Given the description of an element on the screen output the (x, y) to click on. 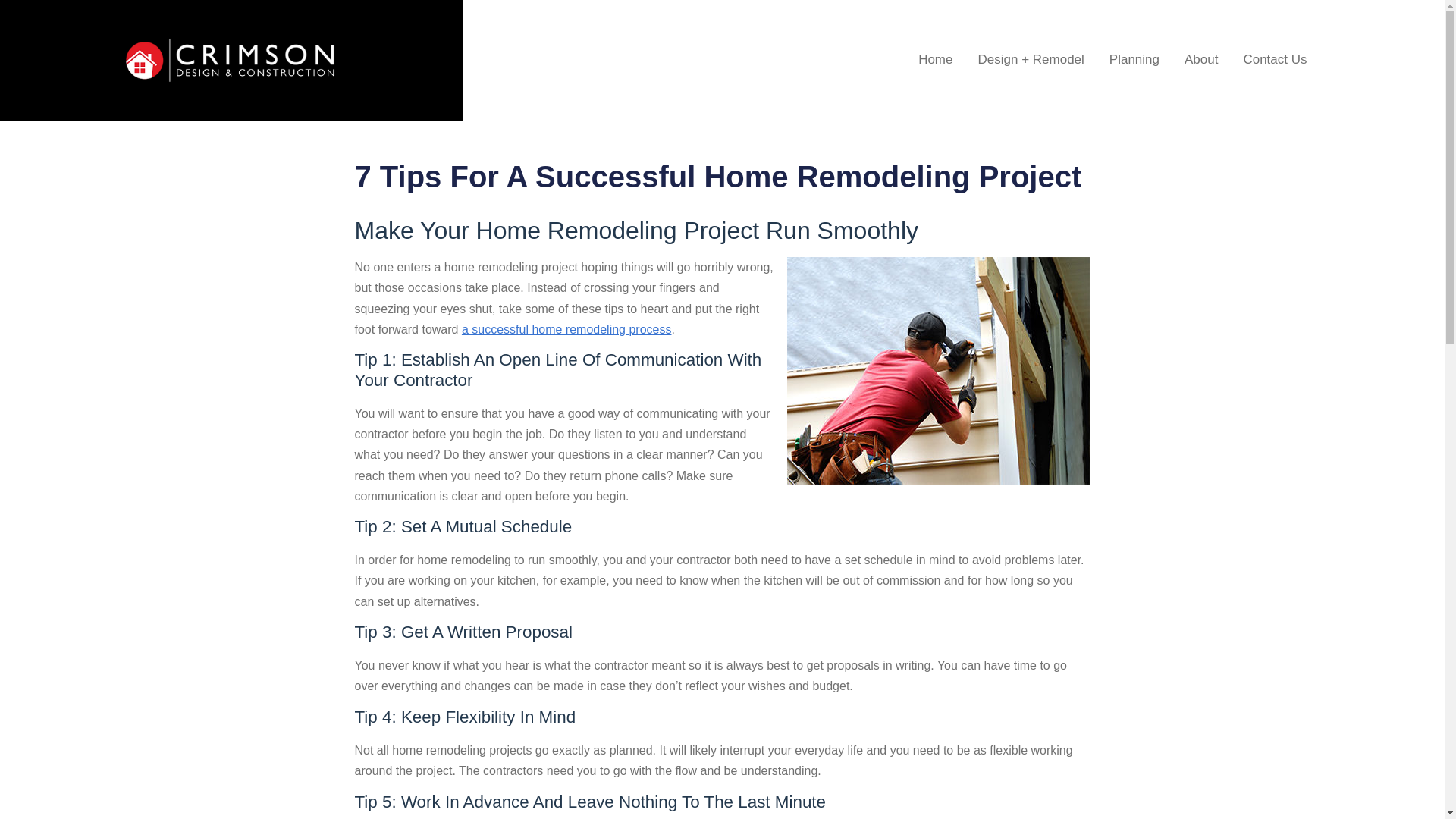
Contact Us (1274, 59)
a successful home remodeling process (566, 328)
Home (935, 59)
7 Tips For A Successful Home Remodeling Project 1 (938, 370)
Planning (1134, 59)
About (1200, 59)
